Given the description of an element on the screen output the (x, y) to click on. 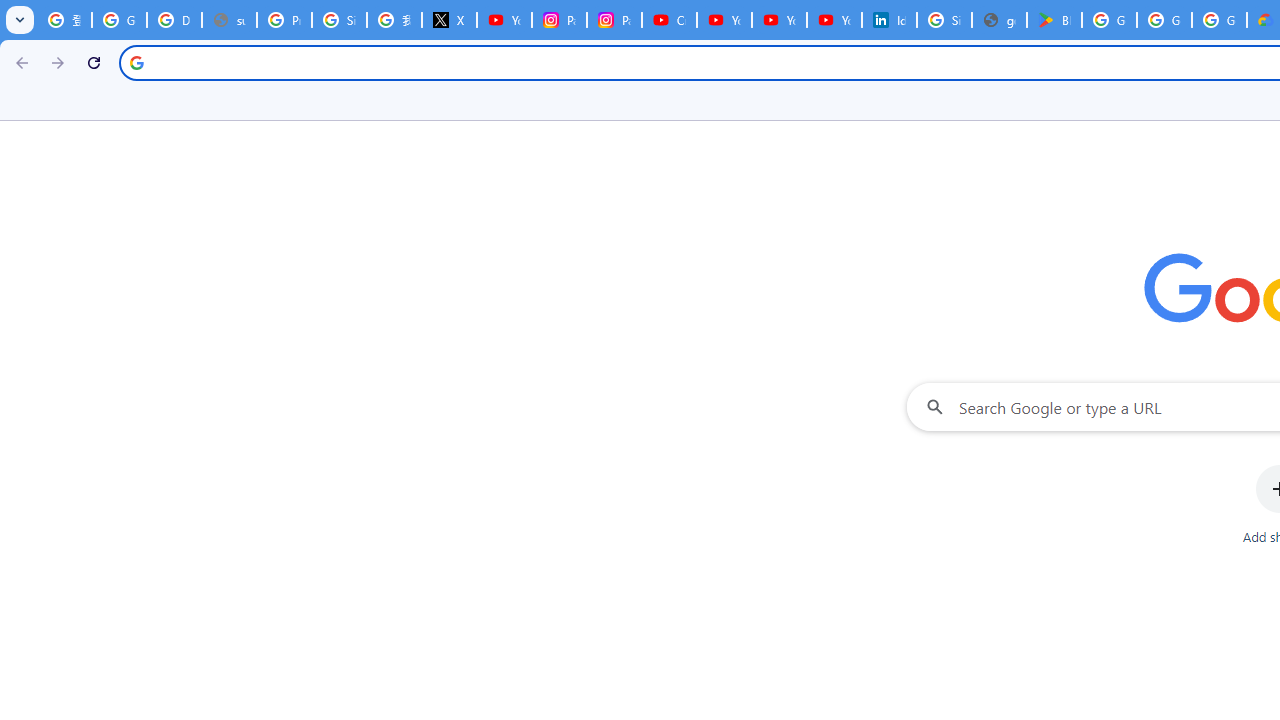
Privacy Help Center - Policies Help (284, 20)
YouTube Content Monetization Policies - How YouTube Works (504, 20)
YouTube Culture & Trends - YouTube Top 10, 2021 (833, 20)
Google Workspace - Specific Terms (1163, 20)
X (449, 20)
YouTube Culture & Trends - YouTube Top 10, 2021 (779, 20)
